Given the description of an element on the screen output the (x, y) to click on. 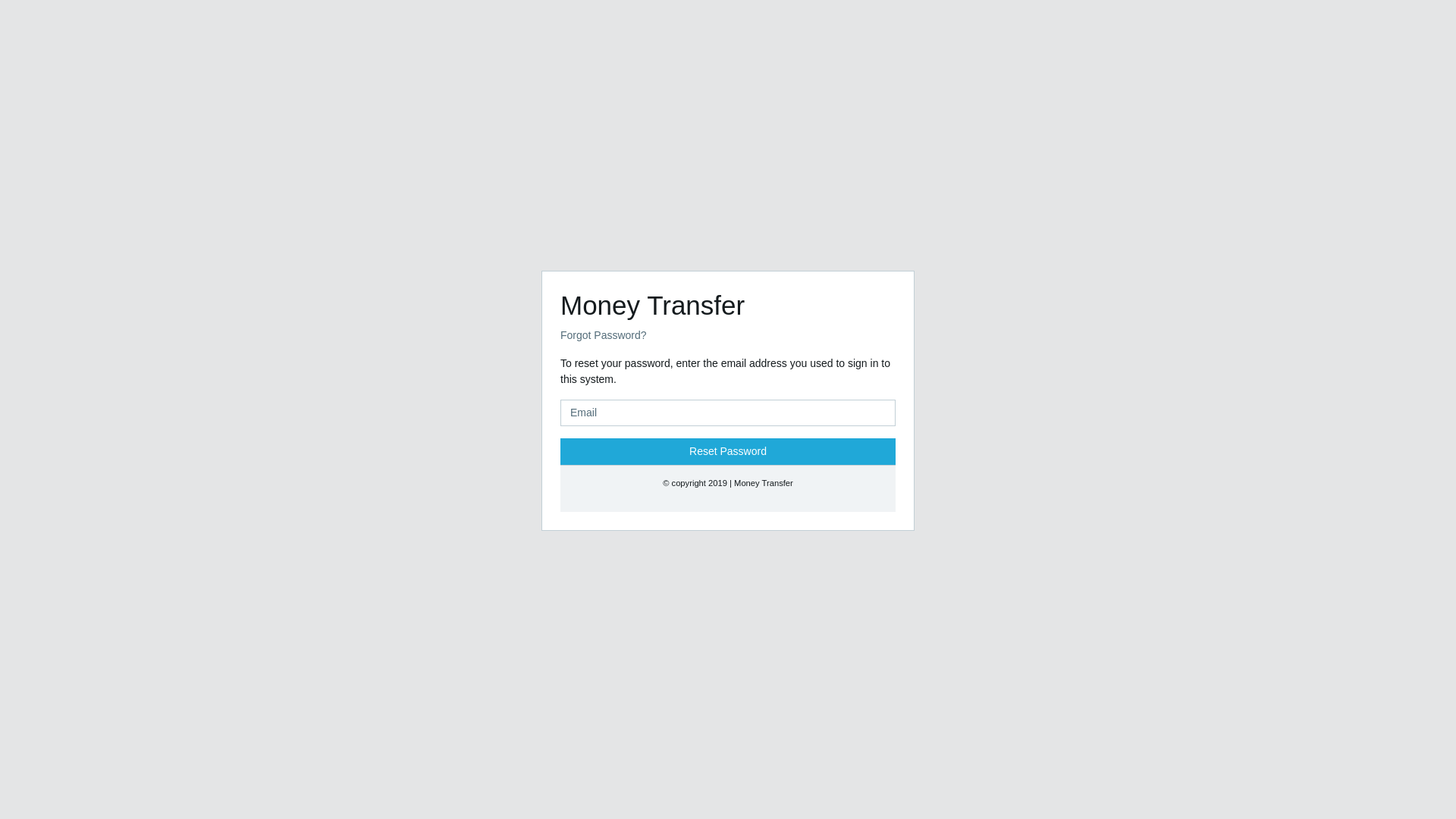
Reset Password Element type: text (727, 451)
